Given the description of an element on the screen output the (x, y) to click on. 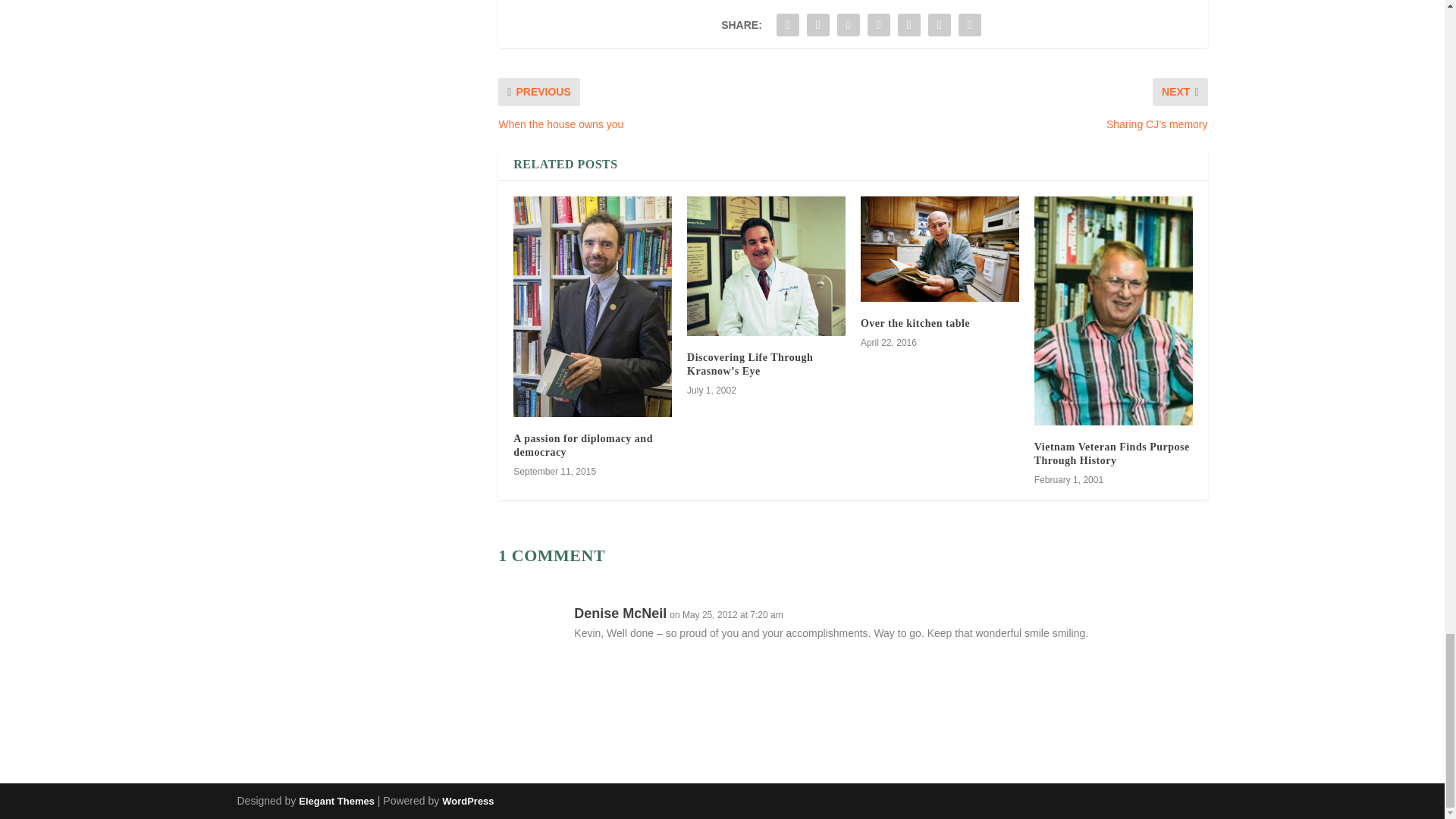
Over the kitchen table (914, 323)
A passion for diplomacy and democracy (582, 445)
Over the kitchen table (939, 249)
Vietnam Veteran Finds Purpose Through History (1111, 453)
